Given the description of an element on the screen output the (x, y) to click on. 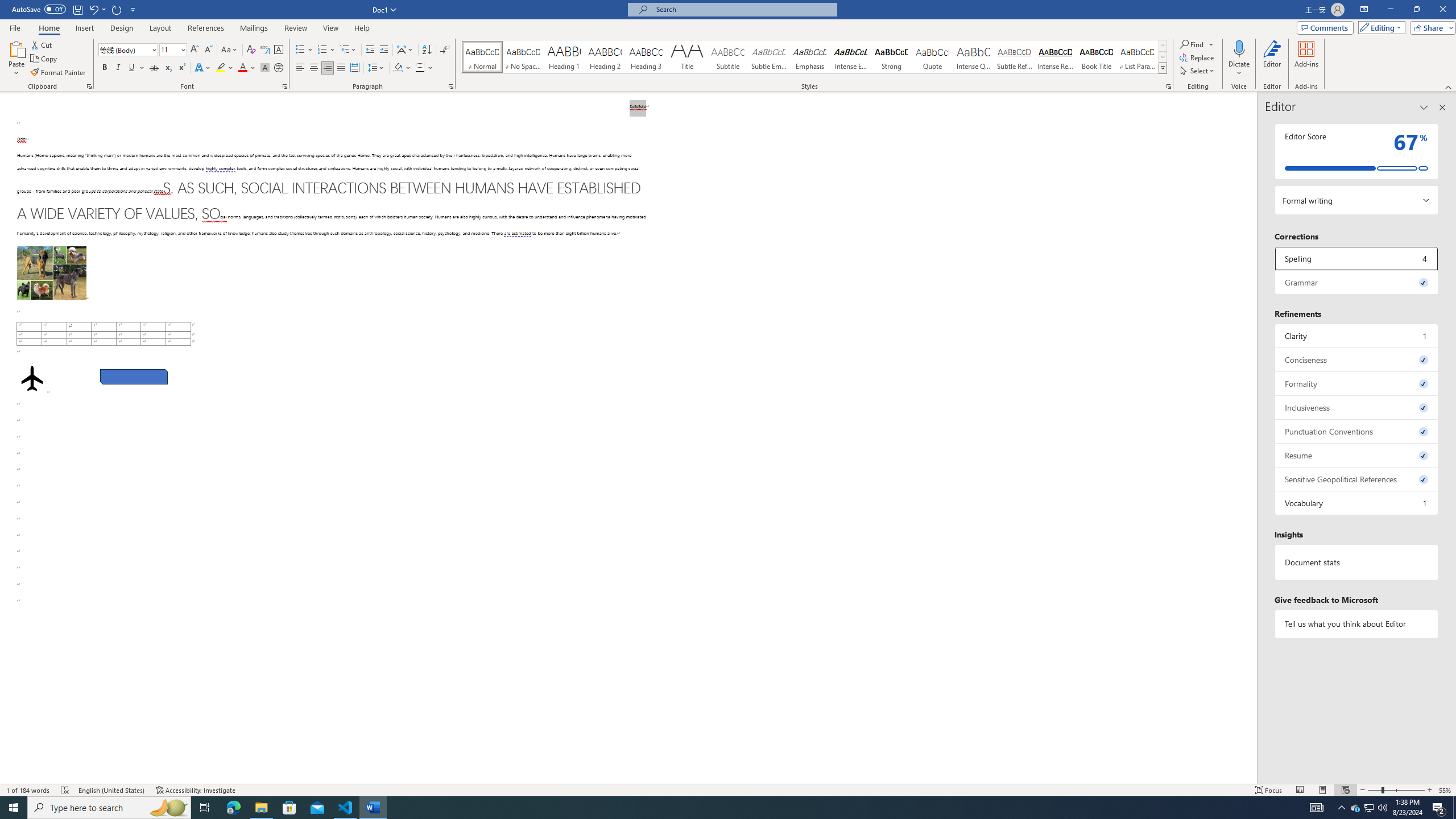
Undo Paragraph Alignment (92, 9)
Rectangle: Diagonal Corners Snipped 2 (133, 376)
Word Count 1 of 184 words (28, 790)
Undo Paragraph Alignment (96, 9)
